Given the description of an element on the screen output the (x, y) to click on. 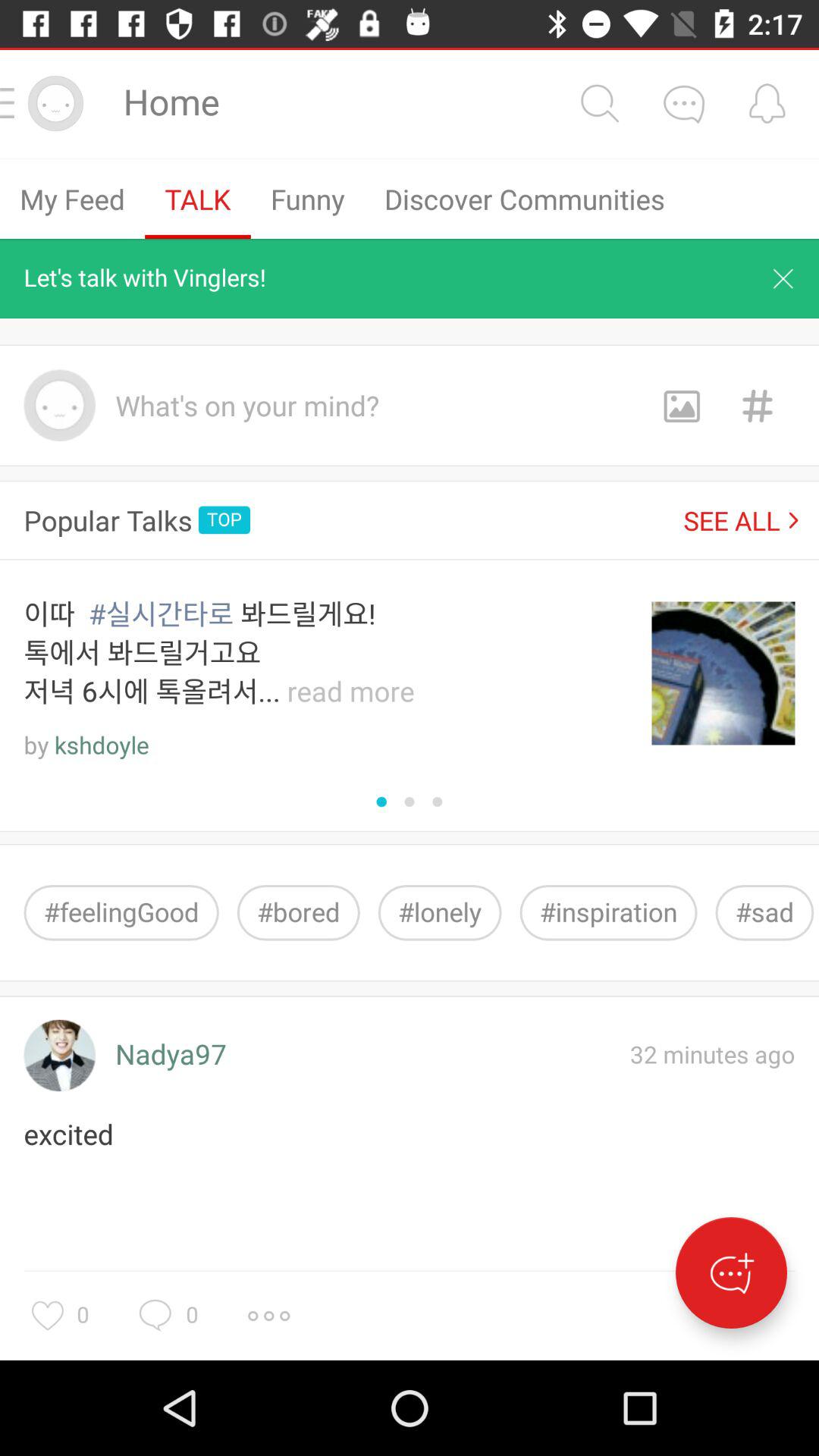
picture option (681, 405)
